Given the description of an element on the screen output the (x, y) to click on. 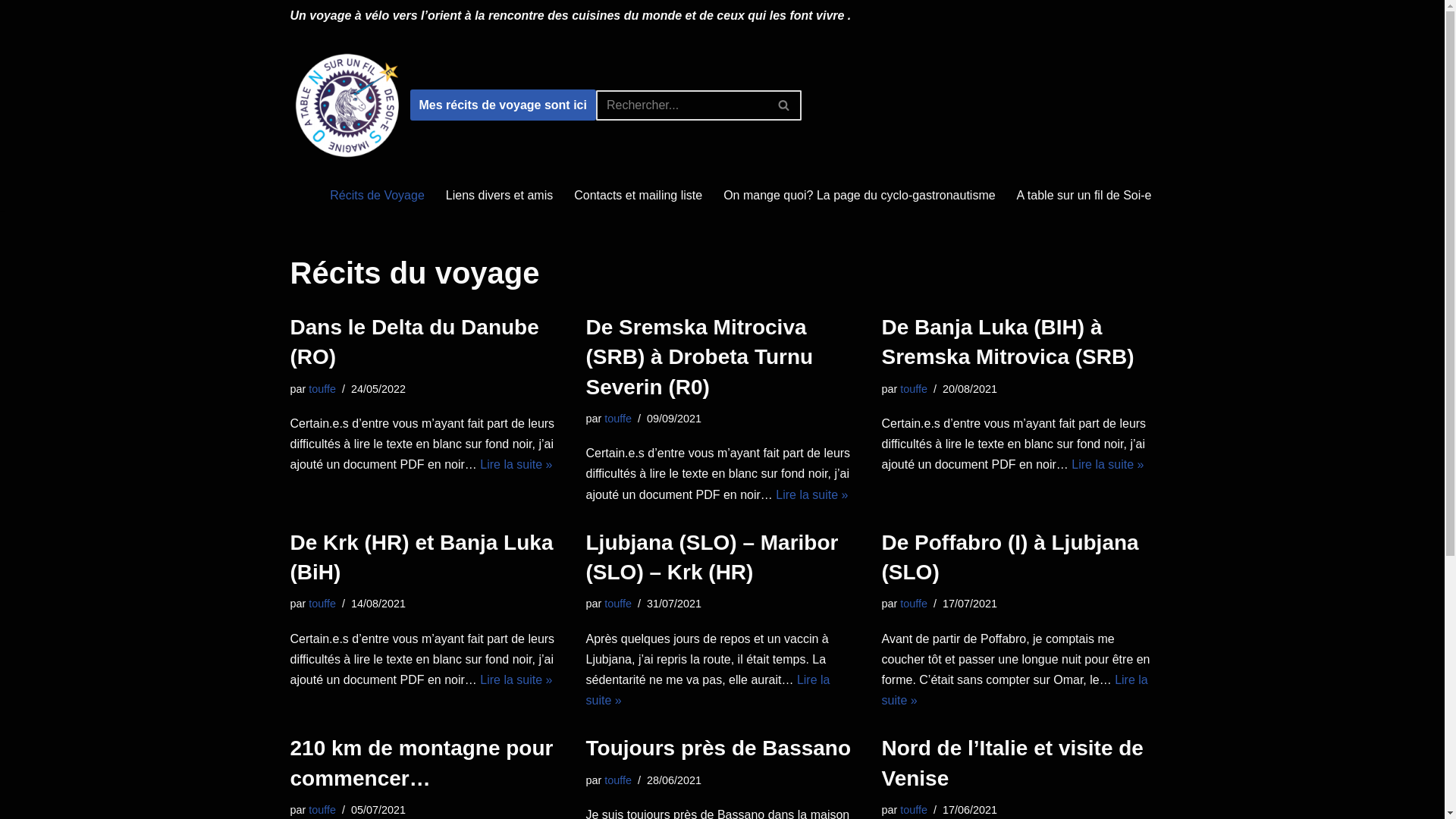
Dans le Delta du Danube (RO) Element type: text (413, 341)
De Krk (HR) et Banja Luka (BiH) Element type: text (420, 556)
A table sur un fil de Soi-e Element type: text (1083, 195)
Contacts et mailing liste Element type: text (638, 195)
Liens divers et amis Element type: text (498, 195)
touffe Element type: text (617, 418)
touffe Element type: text (321, 603)
touffe Element type: text (321, 388)
touffe Element type: text (617, 603)
On mange quoi? La page du cyclo-gastronautisme Element type: text (858, 195)
touffe Element type: text (617, 780)
Cyclosite Element type: hover (349, 105)
touffe Element type: text (913, 388)
touffe Element type: text (321, 809)
touffe Element type: text (913, 603)
touffe Element type: text (913, 809)
Aller au contenu Element type: text (11, 31)
